Given the description of an element on the screen output the (x, y) to click on. 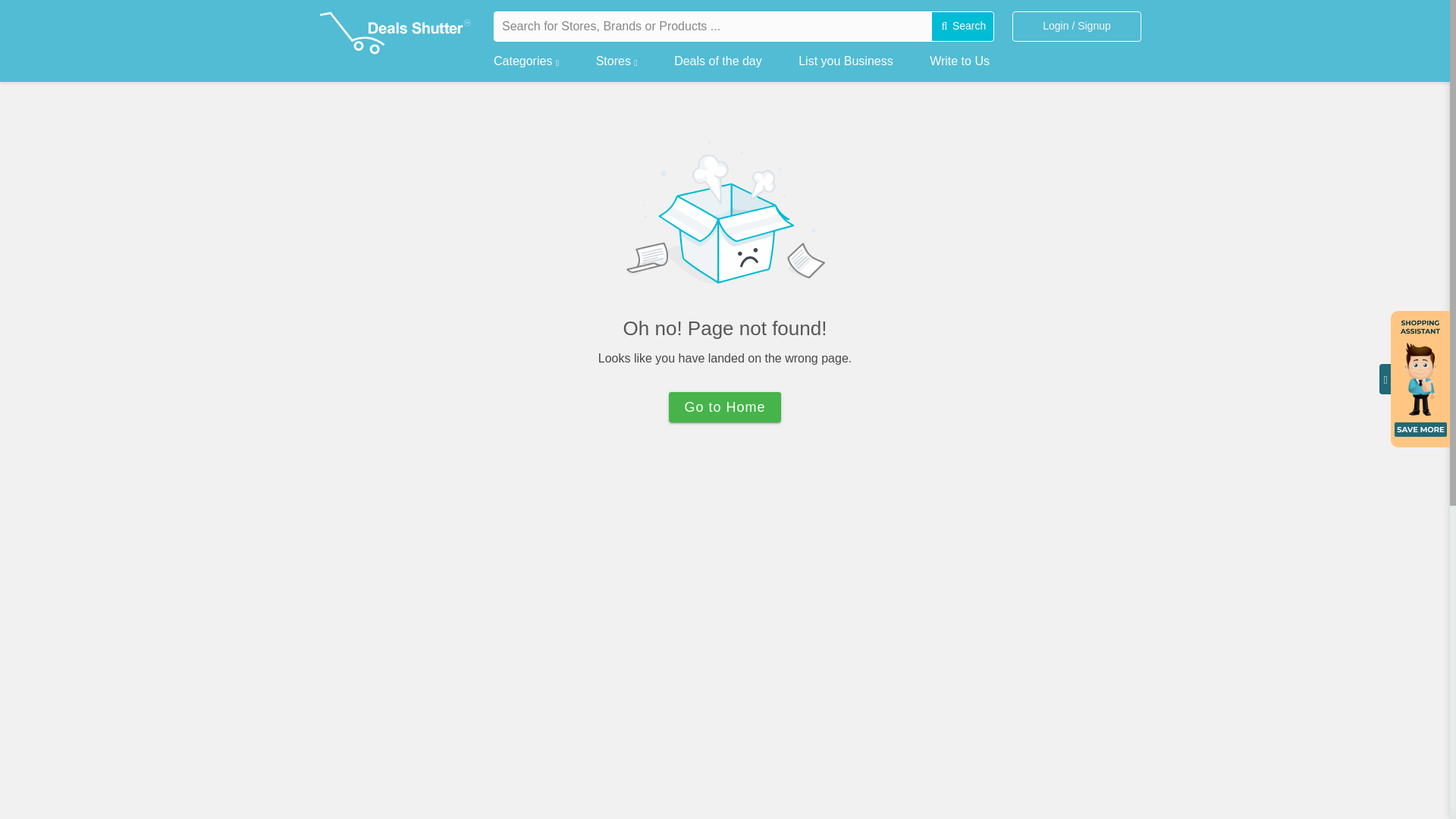
Search (962, 26)
Categories (526, 57)
Categories (526, 57)
